Given the description of an element on the screen output the (x, y) to click on. 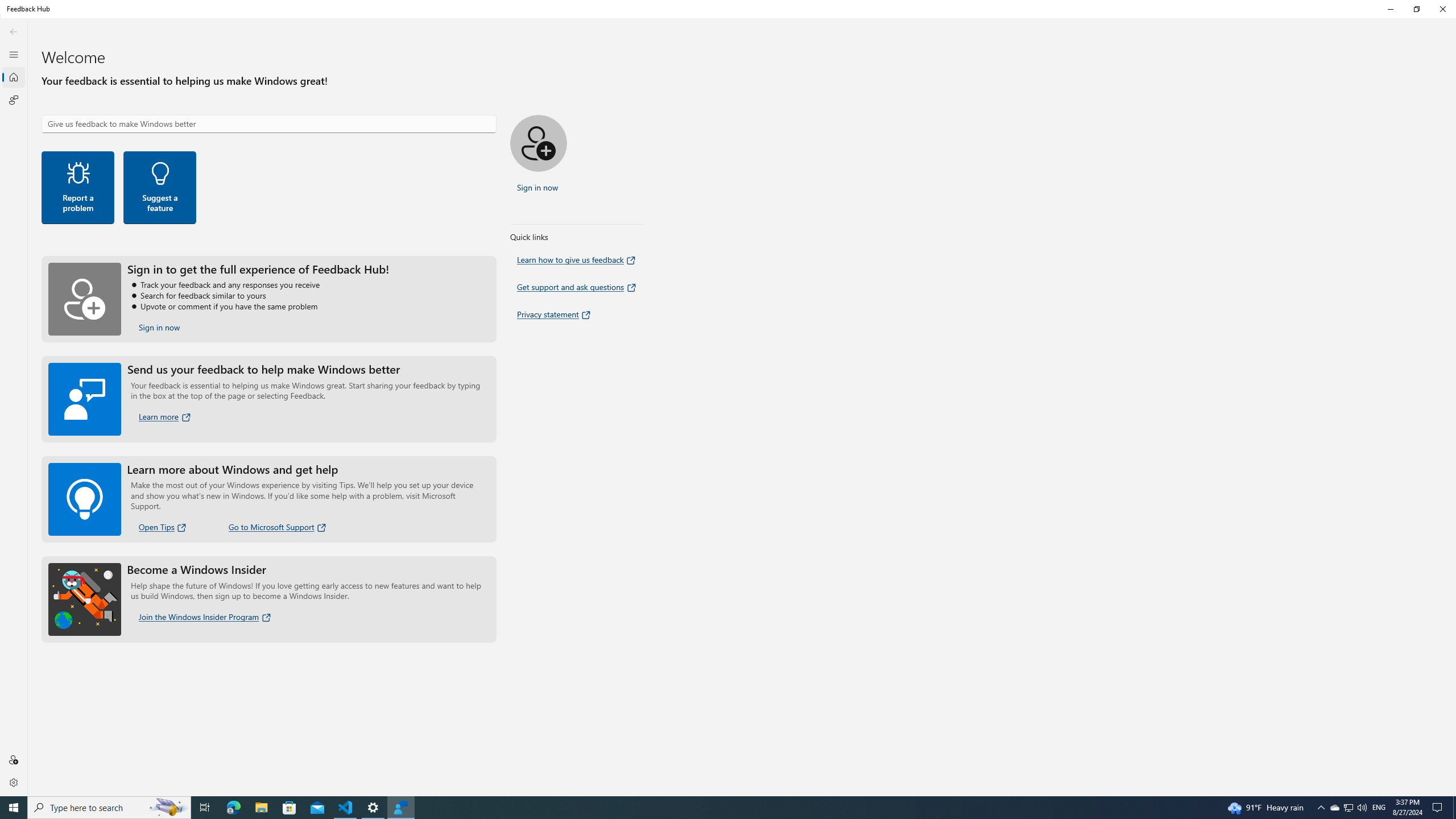
Home (13, 77)
Sign in (13, 759)
Go to Microsoft Support (277, 527)
Vertical Small Increase (1452, 792)
Action Center, No new notifications (1439, 807)
Report a problem (78, 187)
Get support and ask questions (577, 287)
Settings - 1 running window (373, 807)
Open Tips (163, 527)
Vertical (1452, 407)
Settings (13, 782)
Running applications (706, 807)
Notification Chevron (1320, 807)
Give us feedback to make Windows better (269, 123)
